Given the description of an element on the screen output the (x, y) to click on. 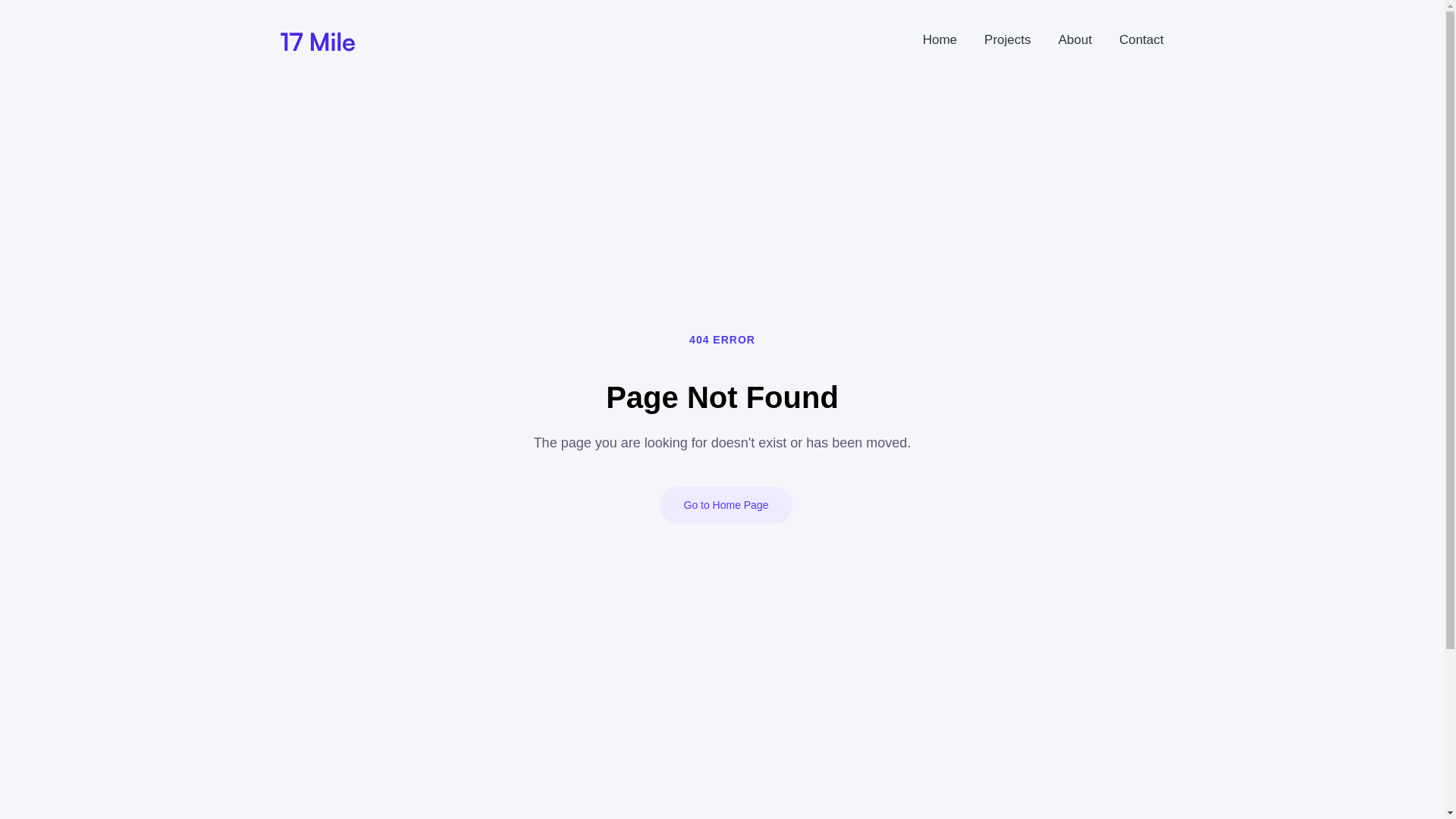
About Element type: text (1075, 39)
Projects Element type: text (1008, 39)
Go to Home Page Element type: text (726, 504)
Home Element type: text (941, 39)
Contact Element type: text (1143, 39)
